Given the description of an element on the screen output the (x, y) to click on. 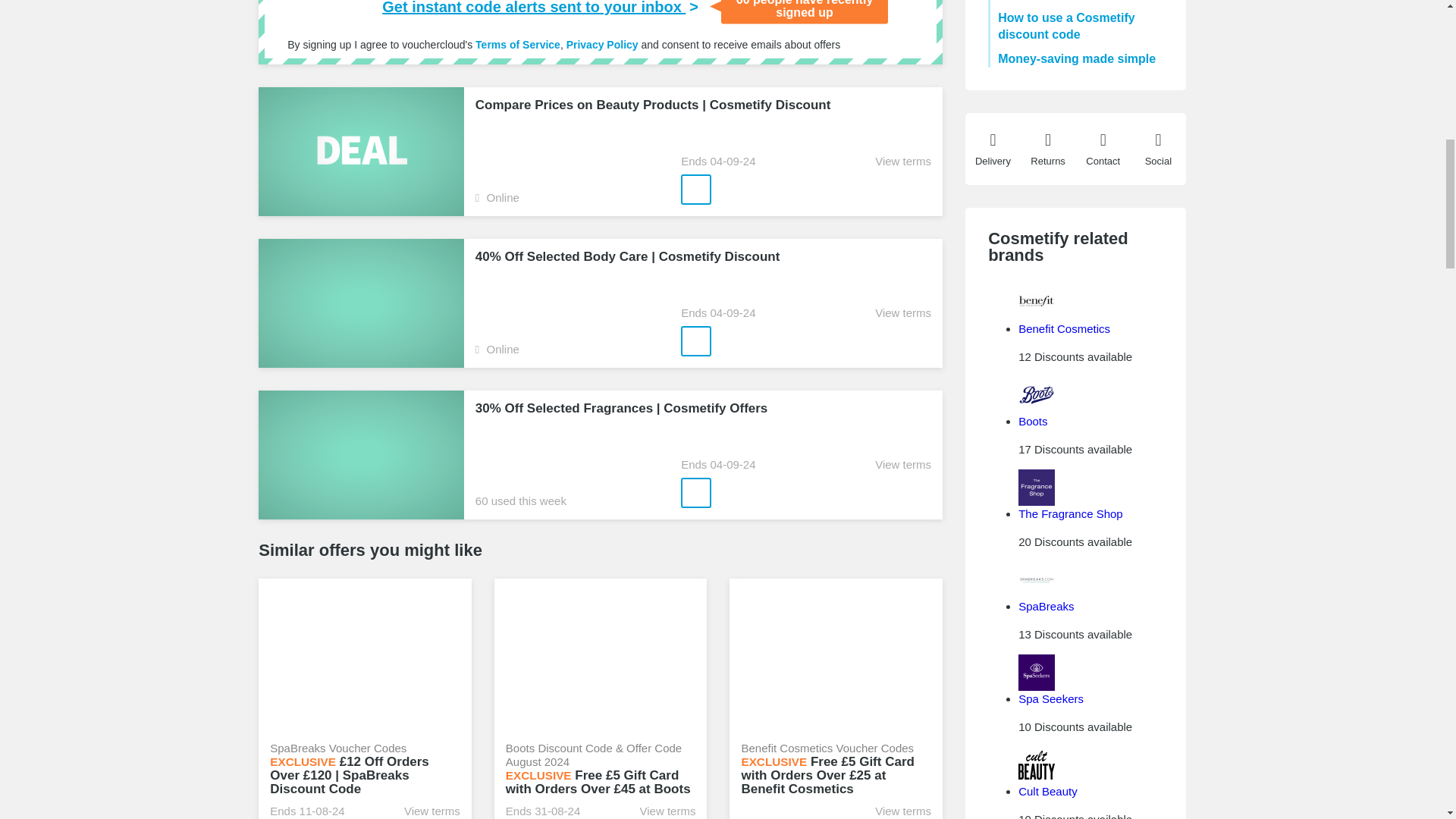
Benefit Cosmetics (1063, 328)
